Given the description of an element on the screen output the (x, y) to click on. 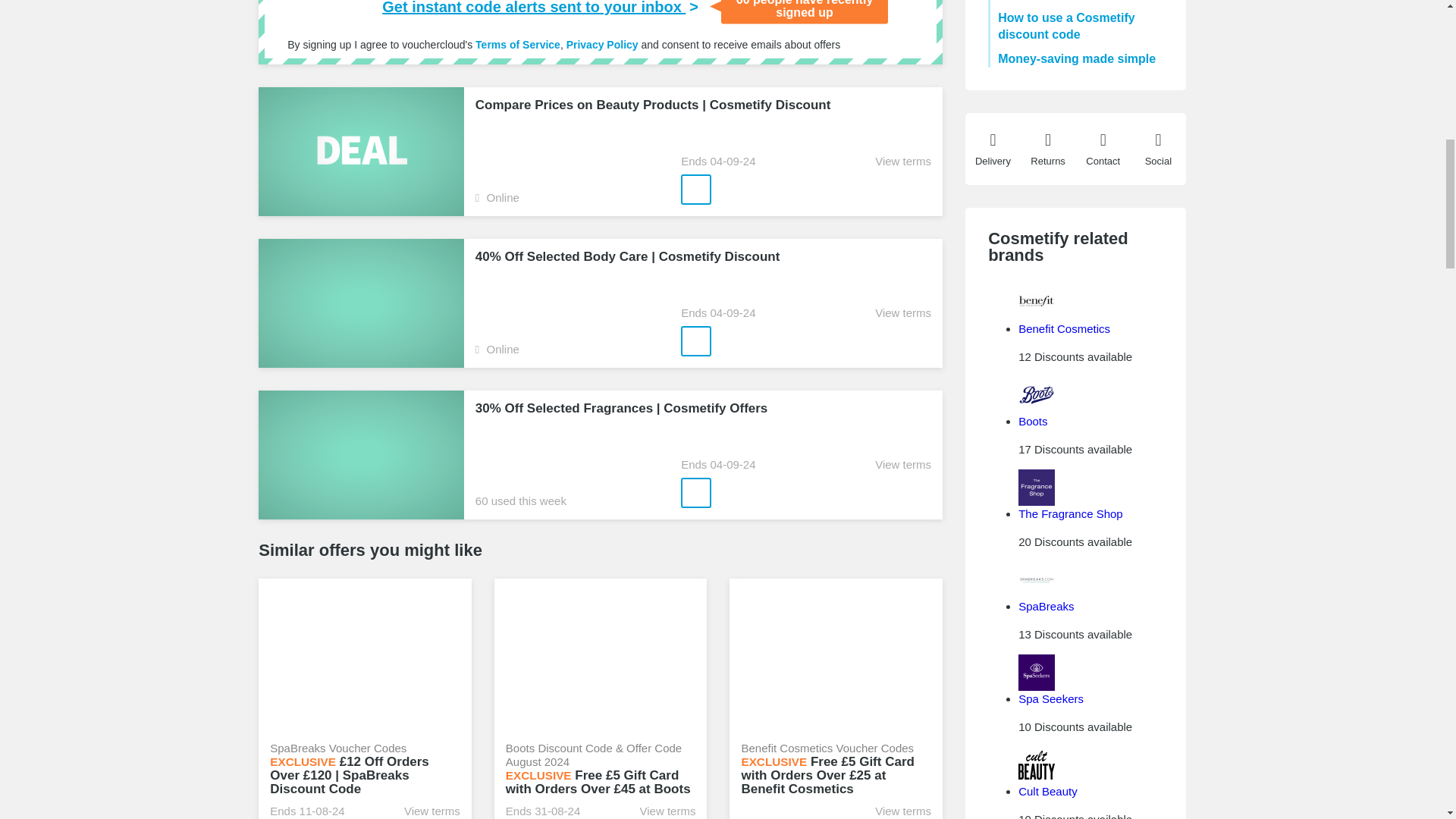
Benefit Cosmetics (1063, 328)
